Given the description of an element on the screen output the (x, y) to click on. 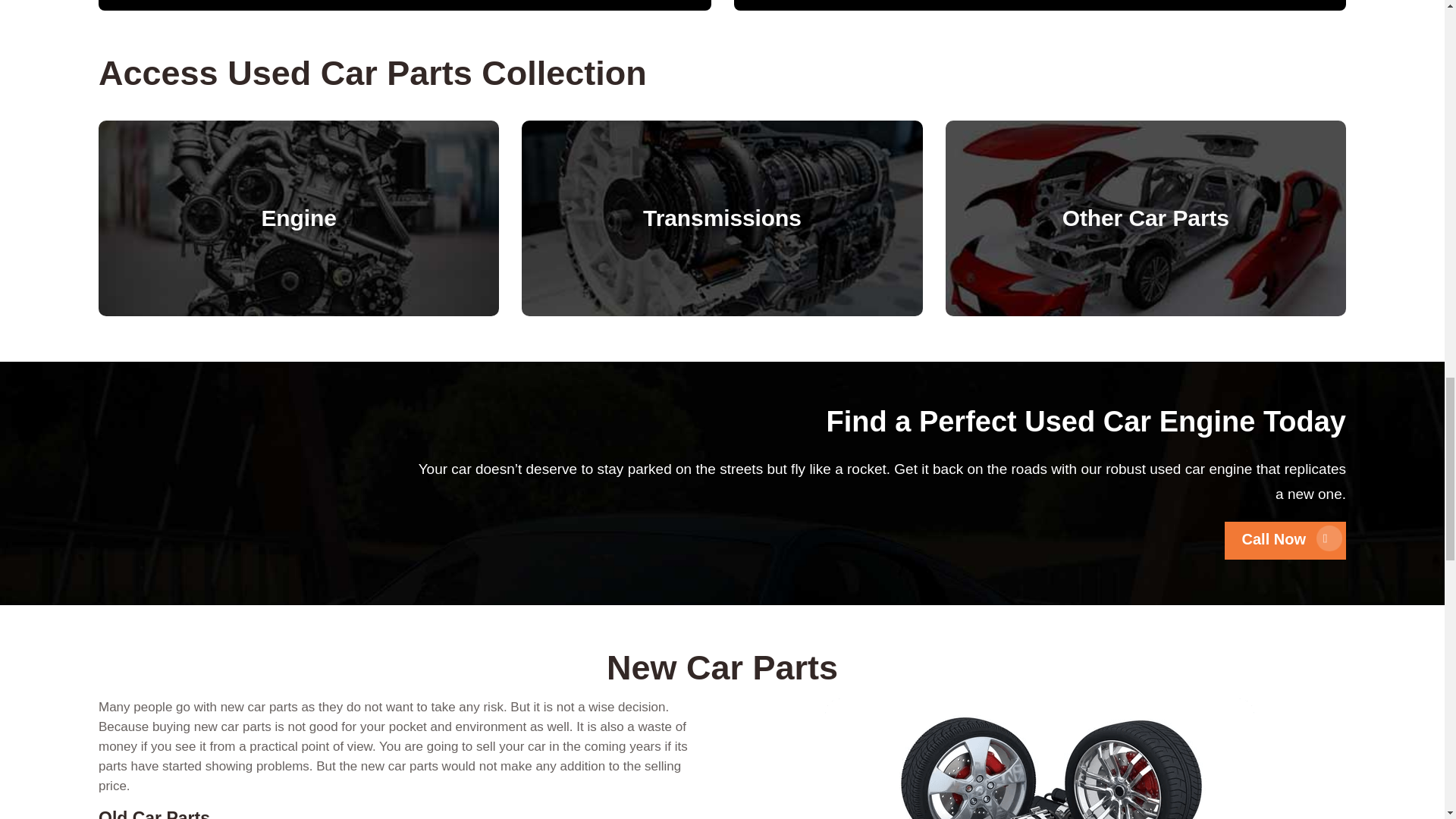
Car-Parts (1039, 758)
